Given the description of an element on the screen output the (x, y) to click on. 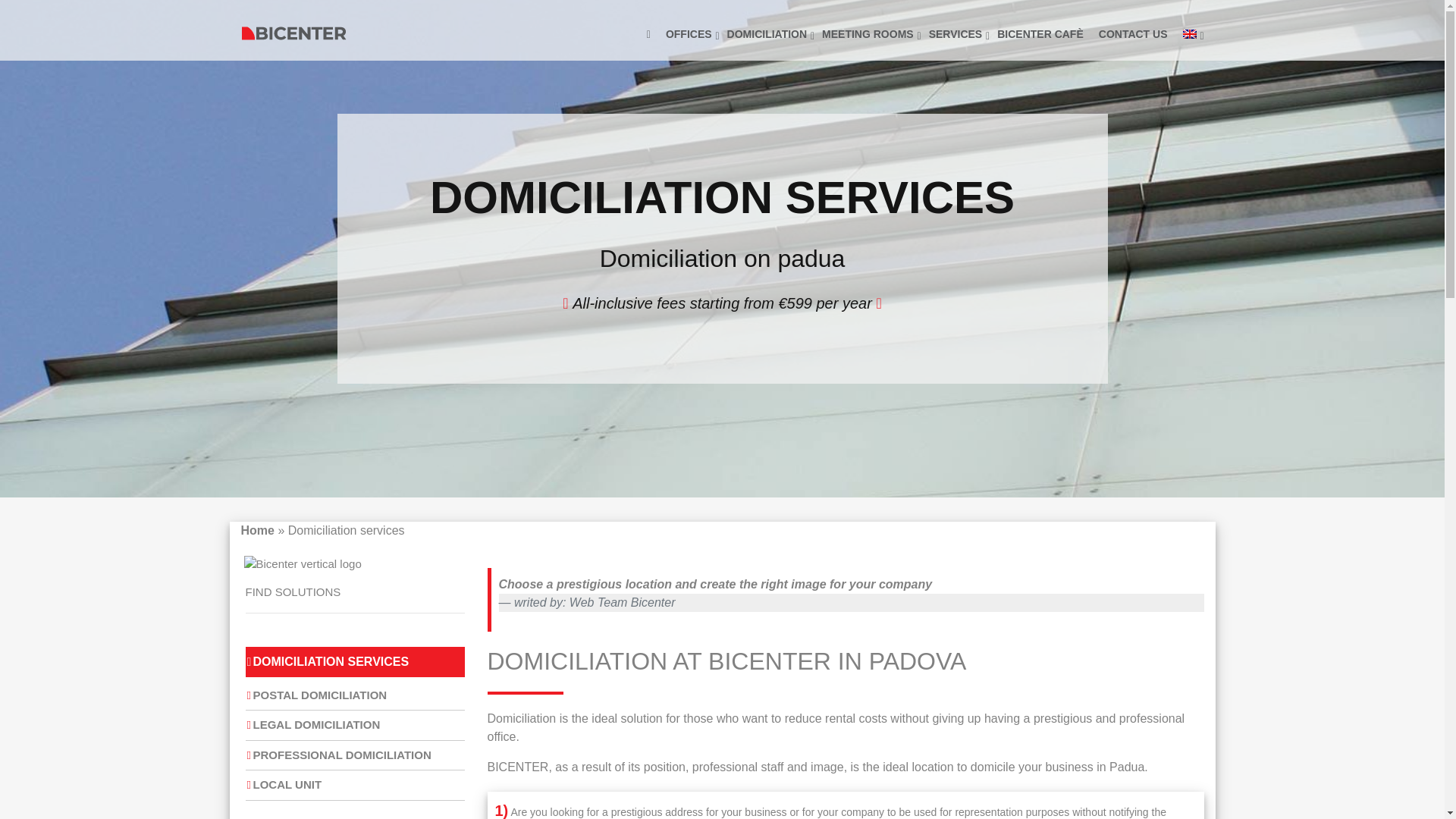
Domiciliation services (767, 33)
Home (258, 530)
DOMICILIATION SERVICES (327, 661)
PROFESSIONAL DOMICILIATION (338, 754)
OFFICES (688, 33)
CONTACT US (1132, 33)
SERVICES (955, 33)
Back to the home (648, 33)
LOCAL UNIT (283, 784)
POSTAL DOMICILIATION (316, 694)
Professional space to meet (867, 33)
DOMICILIATION (767, 33)
Rent office (688, 33)
LEGAL DOMICILIATION (313, 724)
MEETING ROOMS (867, 33)
